Given the description of an element on the screen output the (x, y) to click on. 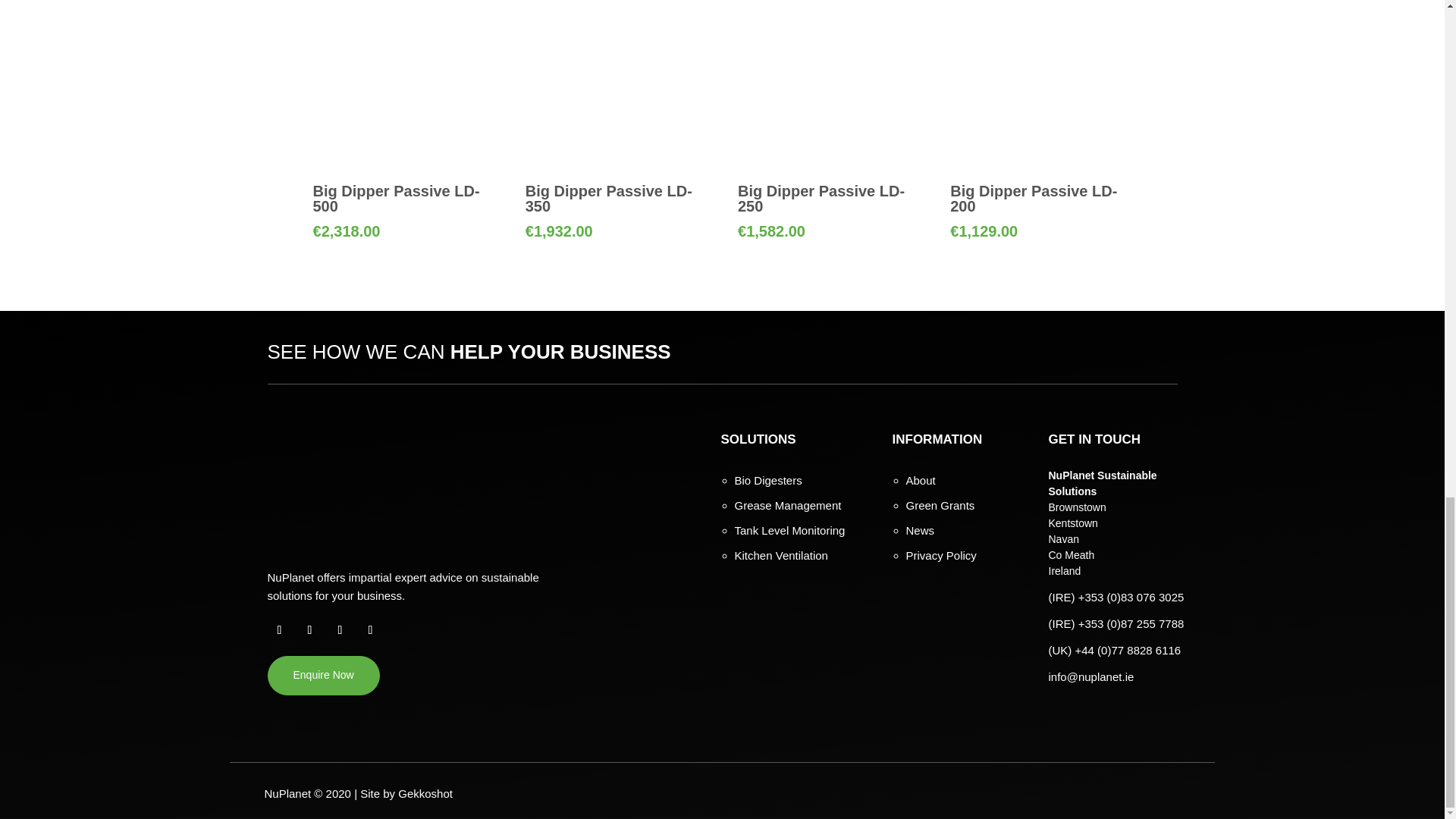
Follow on Instagram (339, 630)
Follow on LinkedIn (369, 630)
Enquire Now (322, 675)
Follow on Facebook (278, 630)
NP-Logo-new (308, 490)
Follow on Twitter (309, 630)
